Given the description of an element on the screen output the (x, y) to click on. 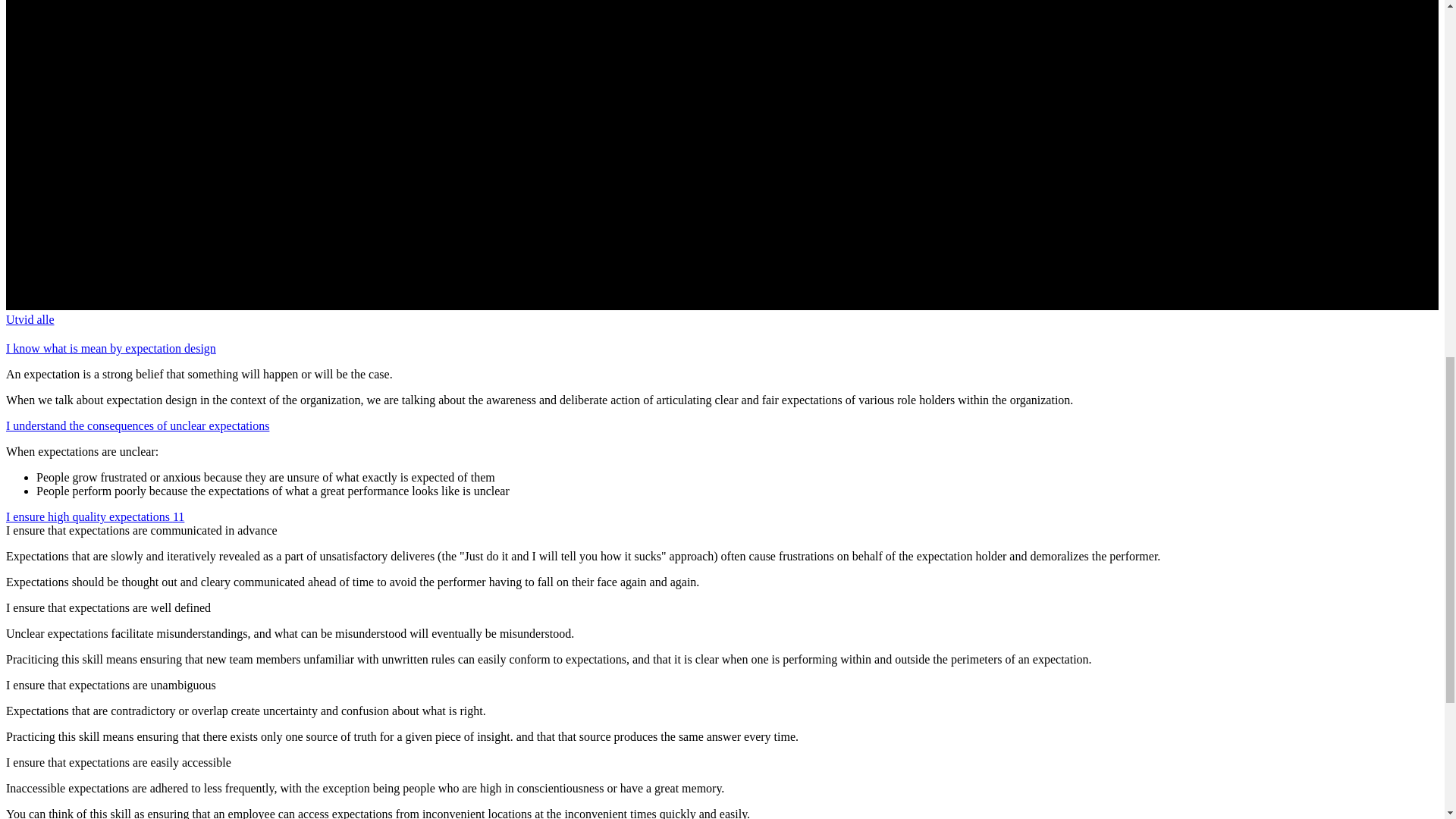
Item ID: 6414 (137, 425)
I ensure that expectations are unambiguous (110, 684)
I ensure that expectations are communicated in advance (141, 530)
Utvid alle (30, 318)
I ensure high quality expectations 11 (94, 516)
Item ID: 3727 (110, 348)
I ensure that expectations are easily accessible (118, 762)
Item ID: 3715 (94, 516)
I ensure that expectations are well defined (108, 607)
I understand the consequences of unclear expectations (137, 425)
